Given the description of an element on the screen output the (x, y) to click on. 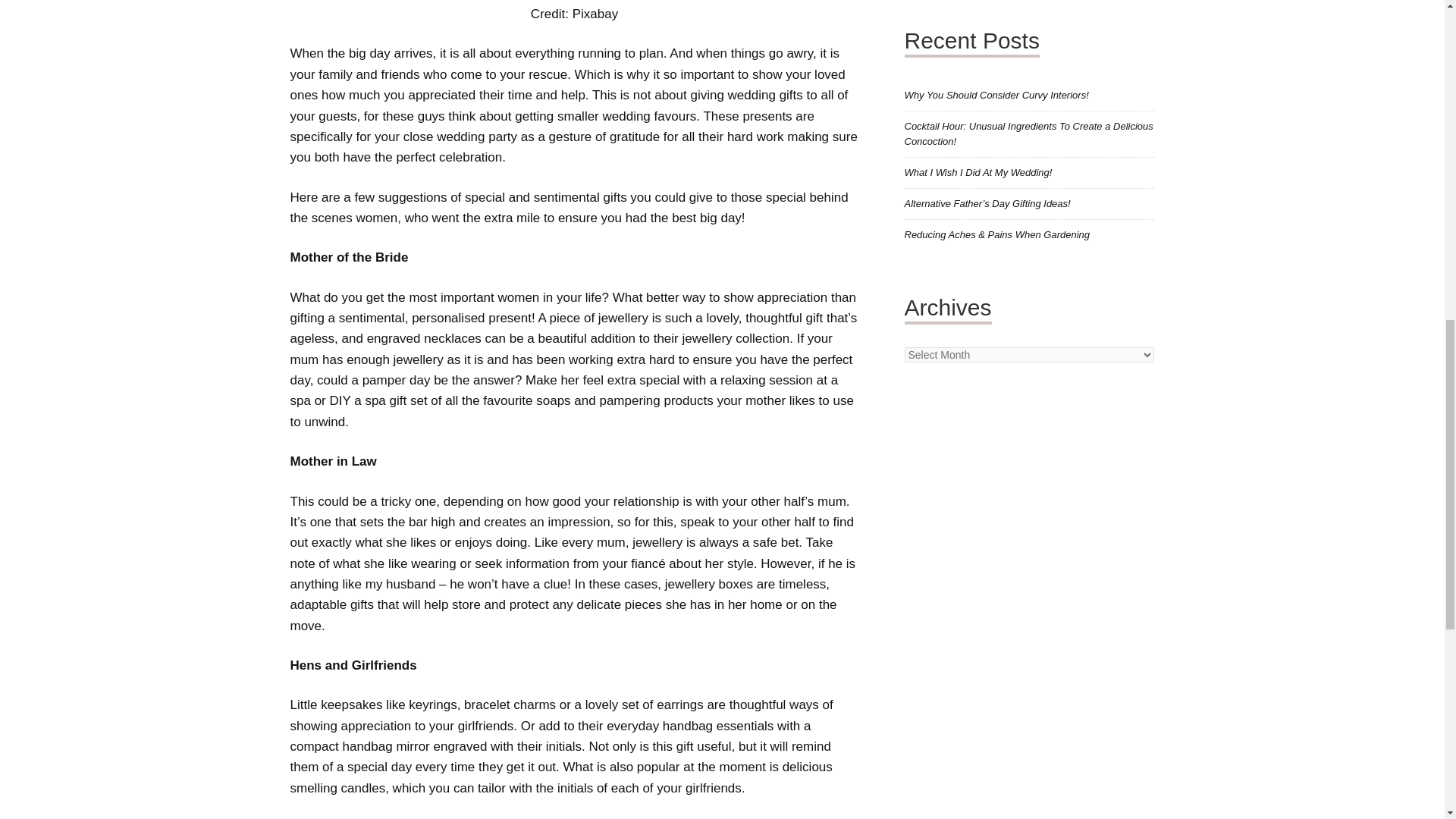
What I Wish I Did At My Wedding! (977, 172)
engraved necklaces (423, 338)
Pixabay (594, 13)
Why You Should Consider Curvy Interiors! (995, 94)
jewellery boxes (708, 584)
